Given the description of an element on the screen output the (x, y) to click on. 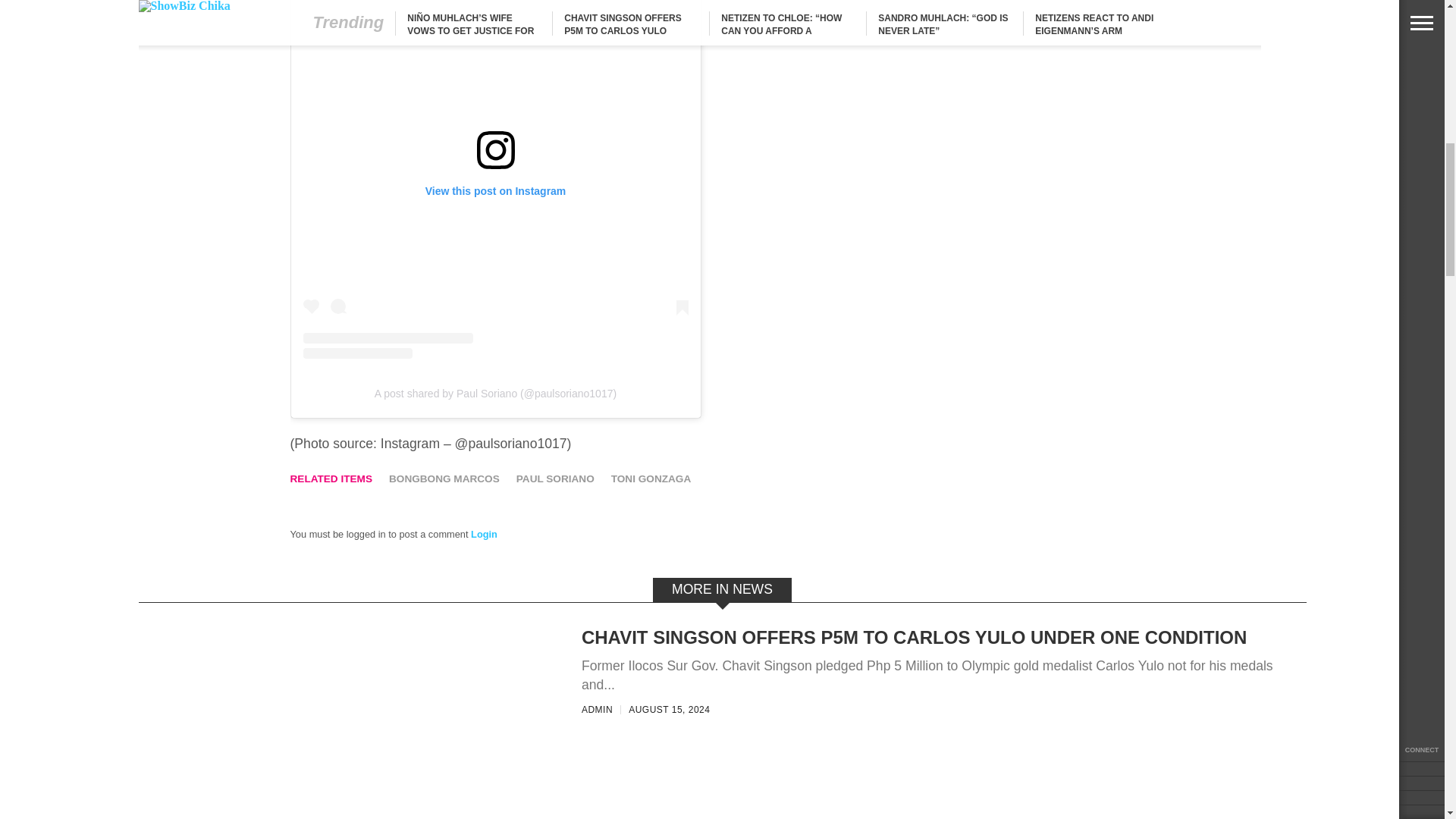
Login (483, 533)
TONI GONZAGA (651, 478)
BONGBONG MARCOS (443, 478)
PAUL SORIANO (555, 478)
